Given the description of an element on the screen output the (x, y) to click on. 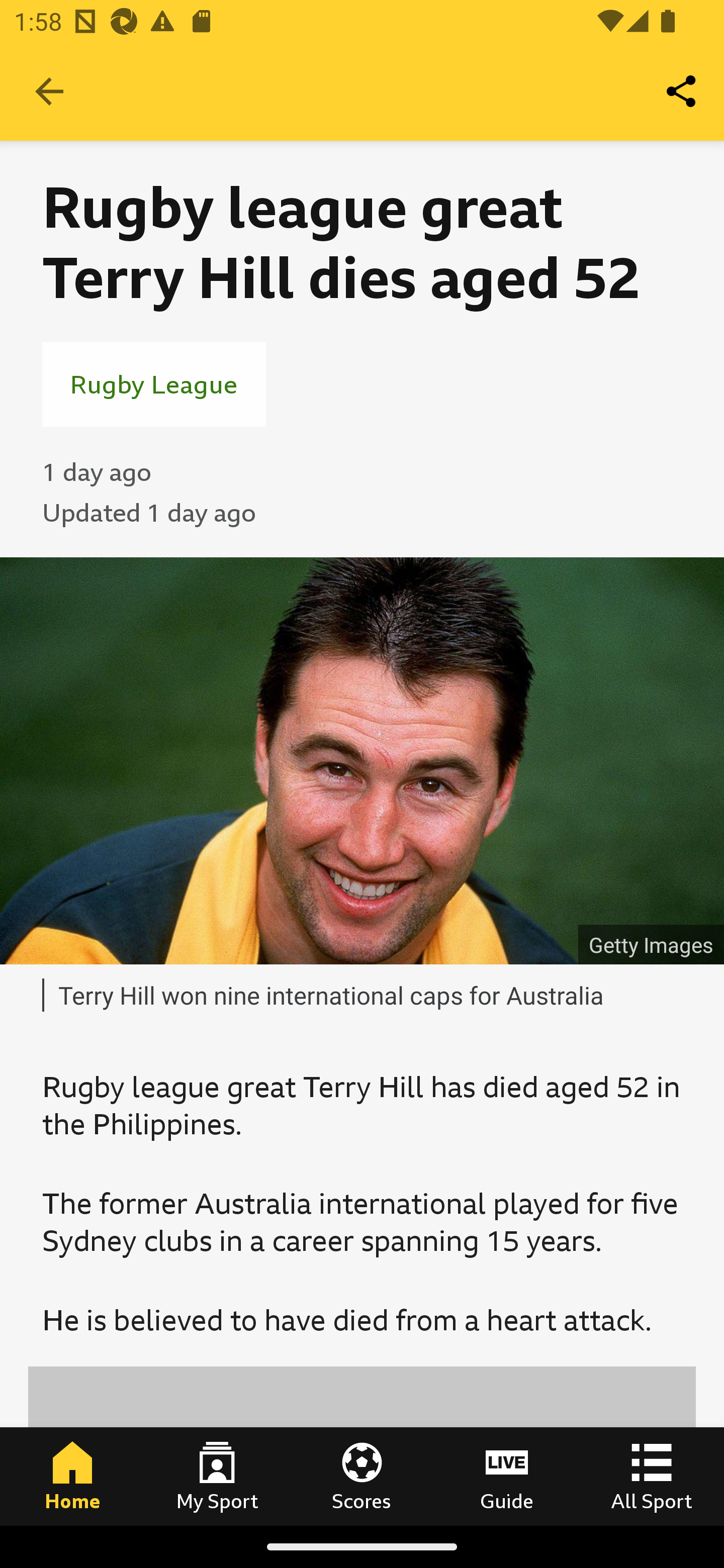
Navigate up (49, 91)
Share (681, 90)
Rugby League (153, 383)
My Sport (216, 1475)
Scores (361, 1475)
Guide (506, 1475)
All Sport (651, 1475)
